Given the description of an element on the screen output the (x, y) to click on. 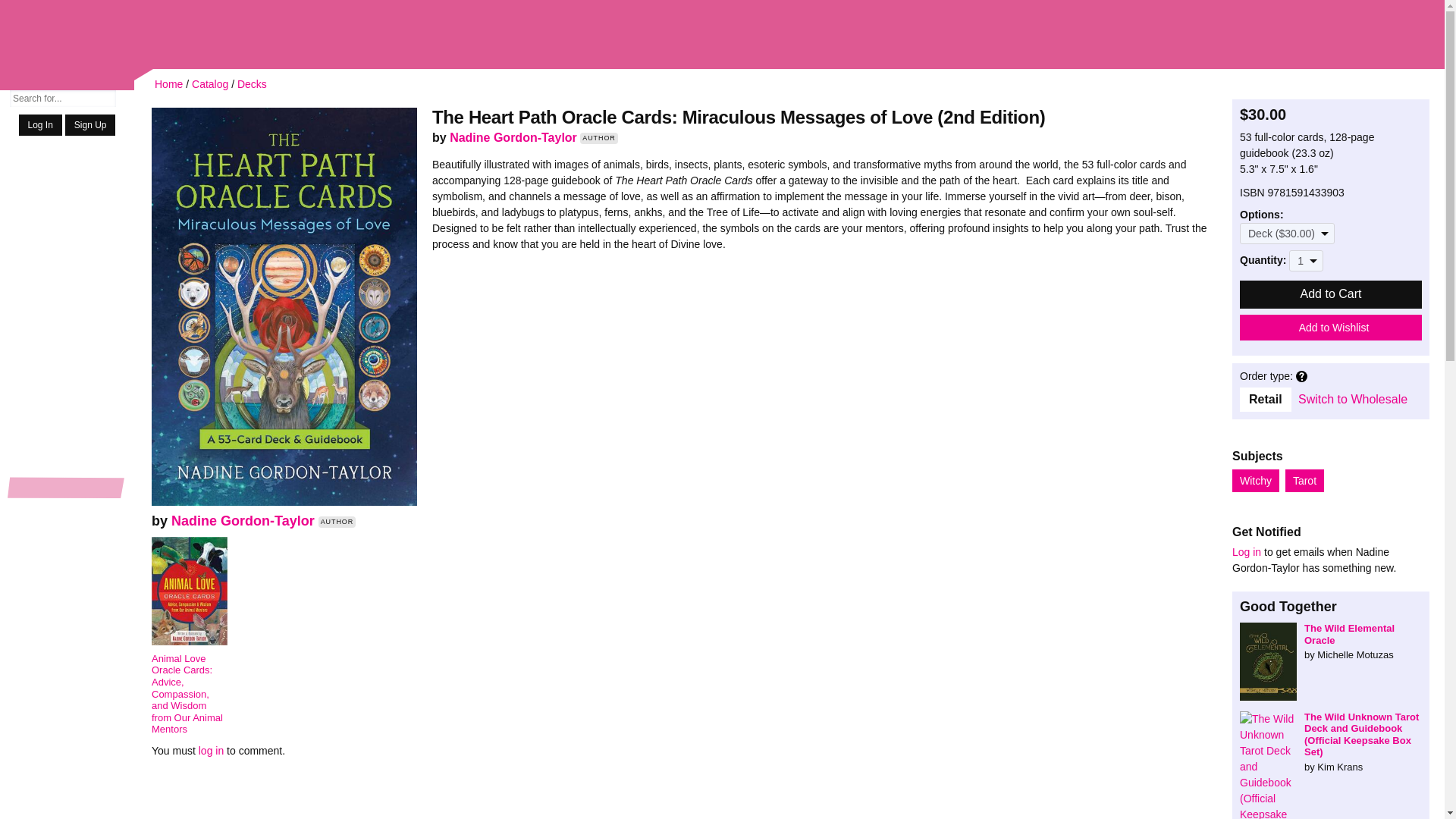
Stickers (66, 323)
Nadine Gordon-Taylor (242, 520)
Catalog (210, 83)
Add to Cart (1331, 294)
Add to Wishlist (1331, 327)
Switch to Wholesale (1352, 399)
cart (1399, 36)
Magnets (66, 466)
Cards (66, 438)
Journals (66, 508)
